Given the description of an element on the screen output the (x, y) to click on. 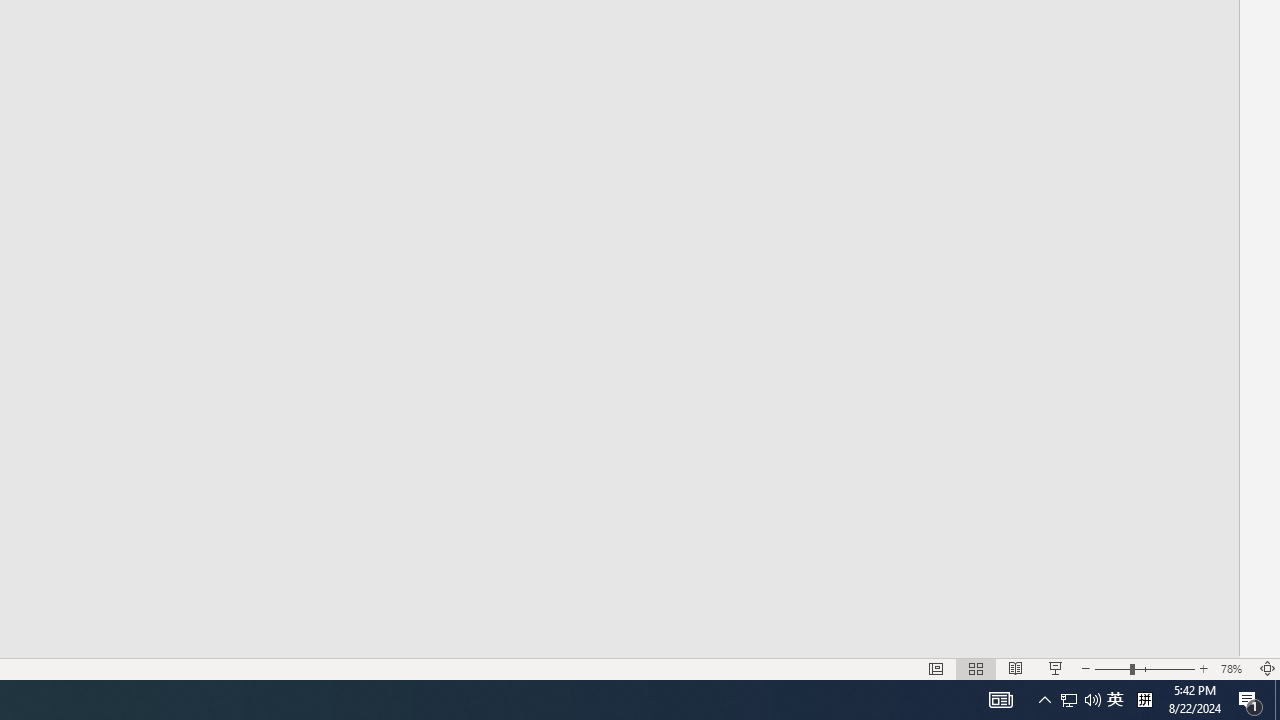
Zoom 78% (1234, 668)
